Given the description of an element on the screen output the (x, y) to click on. 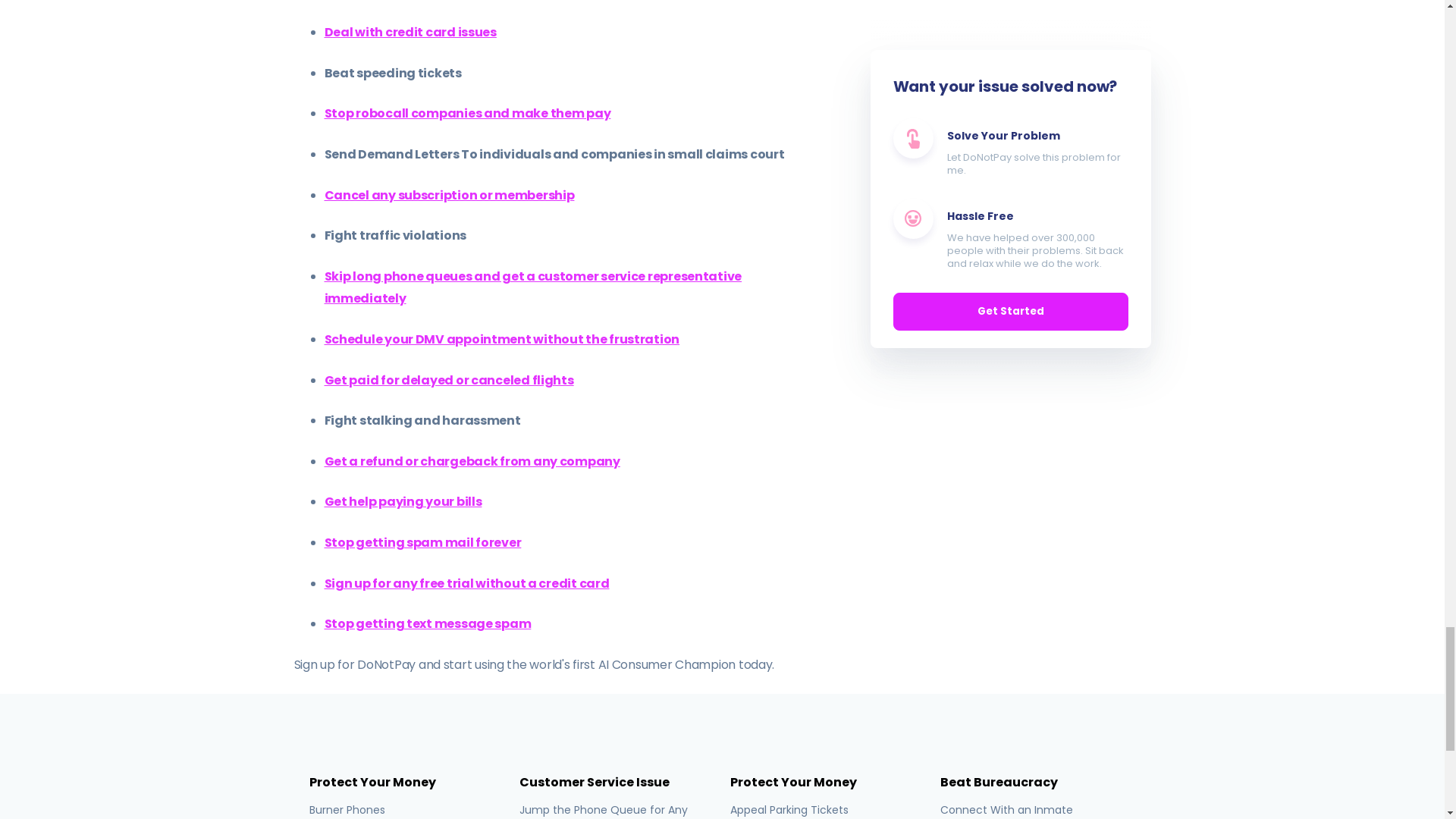
Deal with credit card issues (410, 31)
Cancel any subscription or membership (449, 194)
Stop robocall companies and make them pay (467, 113)
